Given the description of an element on the screen output the (x, y) to click on. 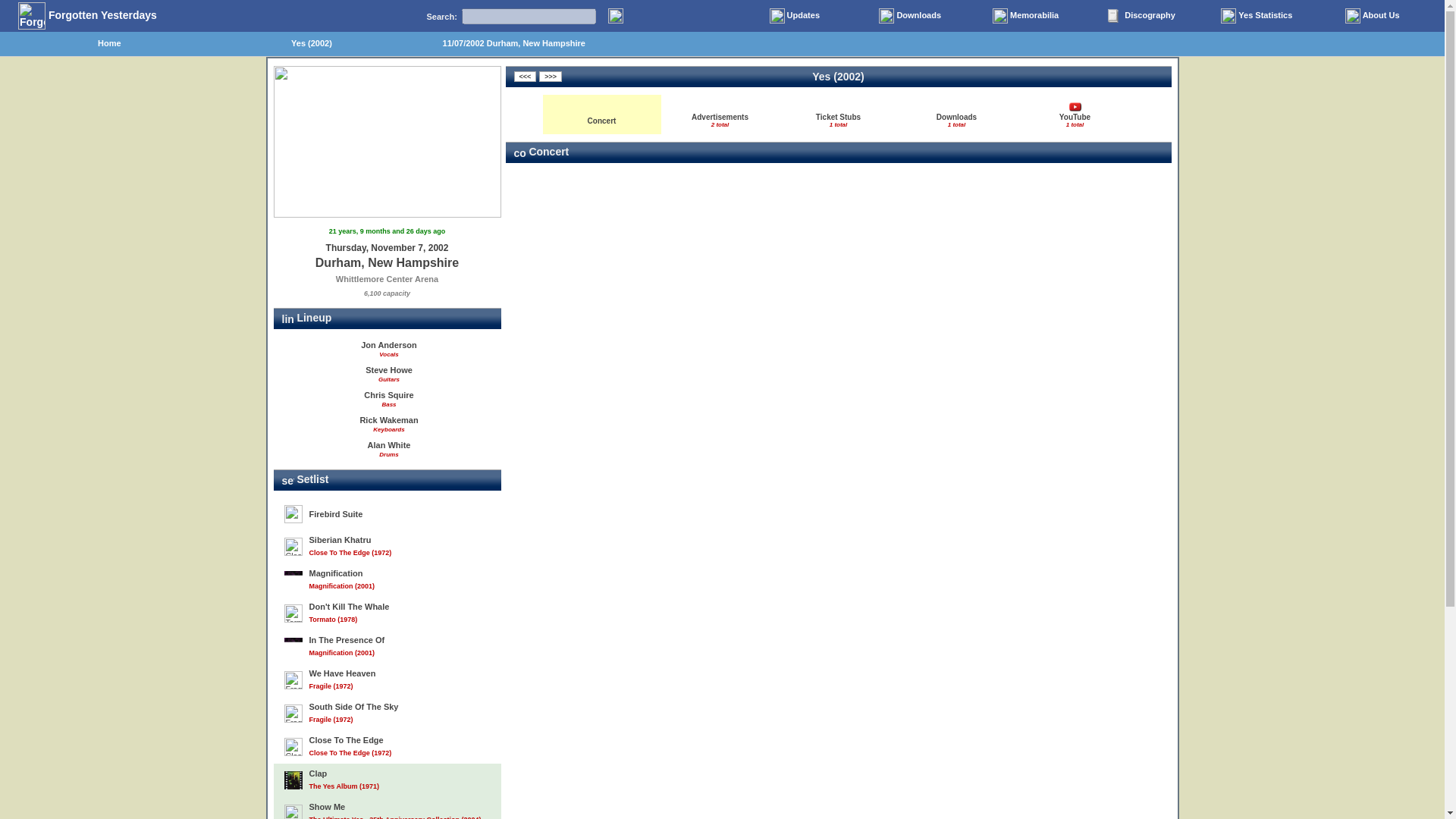
 Yes Statistics (1256, 15)
Forgotten Yesterdays (31, 15)
  Home (101, 44)
Quick Search (615, 15)
Concert (601, 113)
setlist (288, 480)
lineup (288, 318)
Firebird Suite (837, 114)
Forgotten Yesterdays (386, 513)
